Given the description of an element on the screen output the (x, y) to click on. 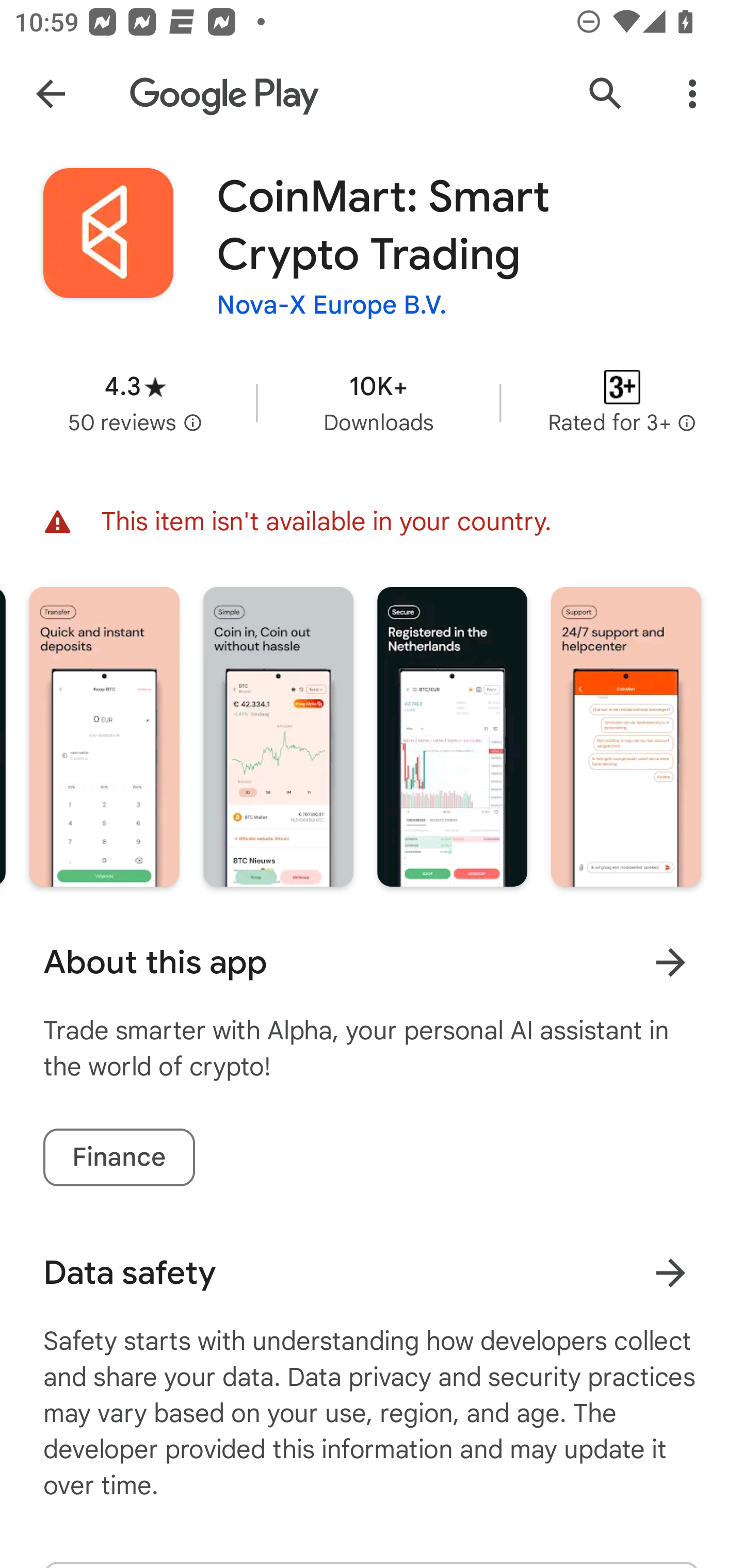
Navigate up (50, 93)
Search Google Play (605, 93)
More Options (692, 93)
Nova-X Europe B.V. (331, 304)
Average rating 4.3 stars in 50 reviews (135, 402)
Content rating Rated for 3+ (622, 402)
Screenshot "4" of "7" (104, 735)
Screenshot "5" of "7" (278, 735)
Screenshot "6" of "7" (452, 735)
Screenshot "7" of "7" (626, 735)
About this app Learn more About this app (371, 962)
Learn more About this app (670, 961)
Finance tag (118, 1157)
Data safety Learn more about data safety (371, 1273)
Learn more about data safety (670, 1272)
